Given the description of an element on the screen output the (x, y) to click on. 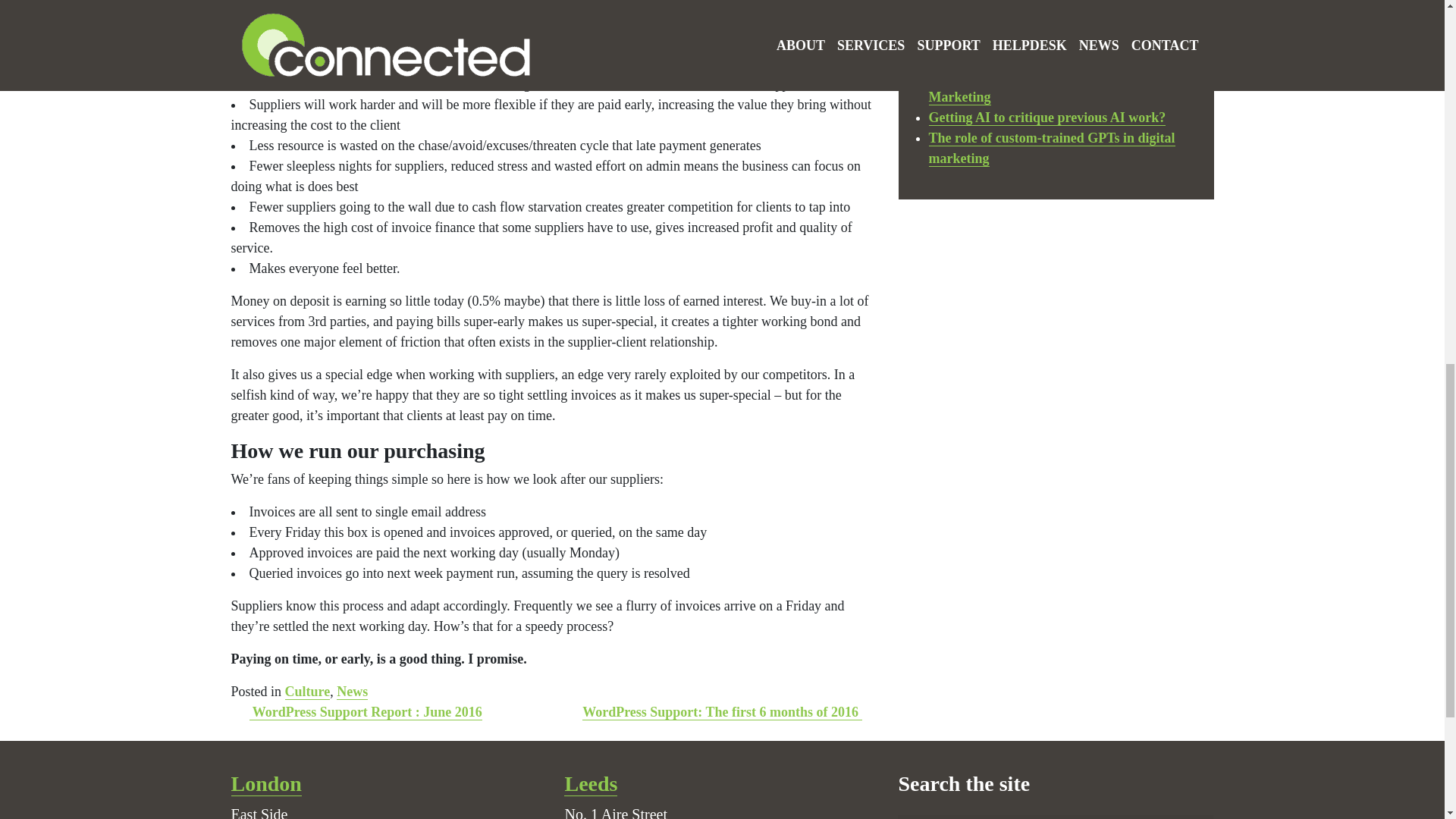
Culture (307, 691)
News (352, 691)
WordPress Support: The first 6 months of 2016  (721, 712)
 WordPress Support Report : June 2016 (364, 712)
Our London Agency Office in Kings Cross (265, 784)
Our Leeds agency Office in Leeds train station (590, 784)
